Given the description of an element on the screen output the (x, y) to click on. 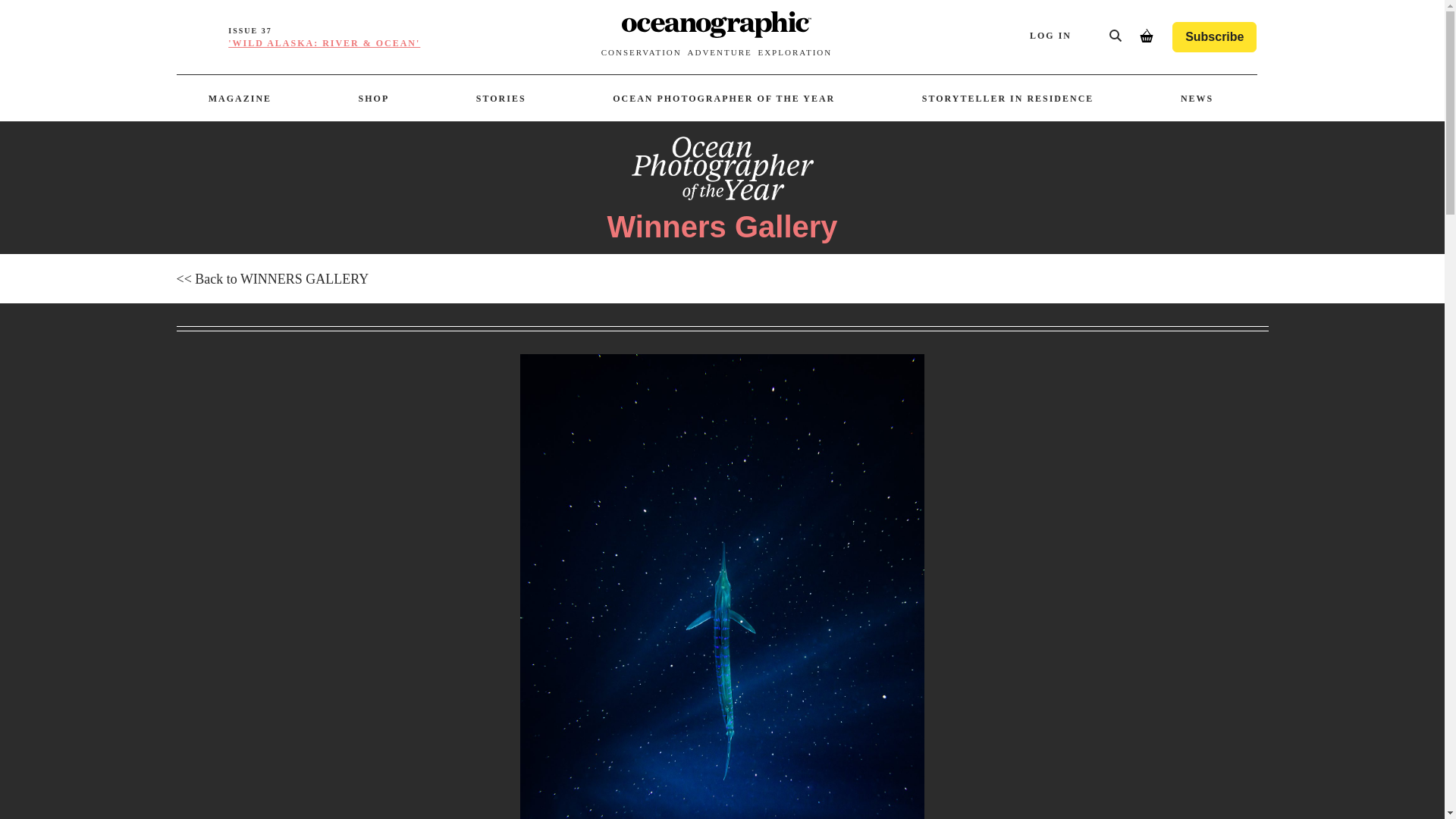
ADVENTURE (719, 52)
CONSERVATION (641, 52)
SHOP (374, 98)
Oceanographic - Home (715, 26)
EXPLORATION (794, 52)
MAGAZINE (239, 98)
NEWS (1196, 98)
OCEAN PHOTOGRAPHER OF THE YEAR (723, 98)
STORYTELLER IN RESIDENCE (1007, 98)
LOG IN (1059, 36)
